Given the description of an element on the screen output the (x, y) to click on. 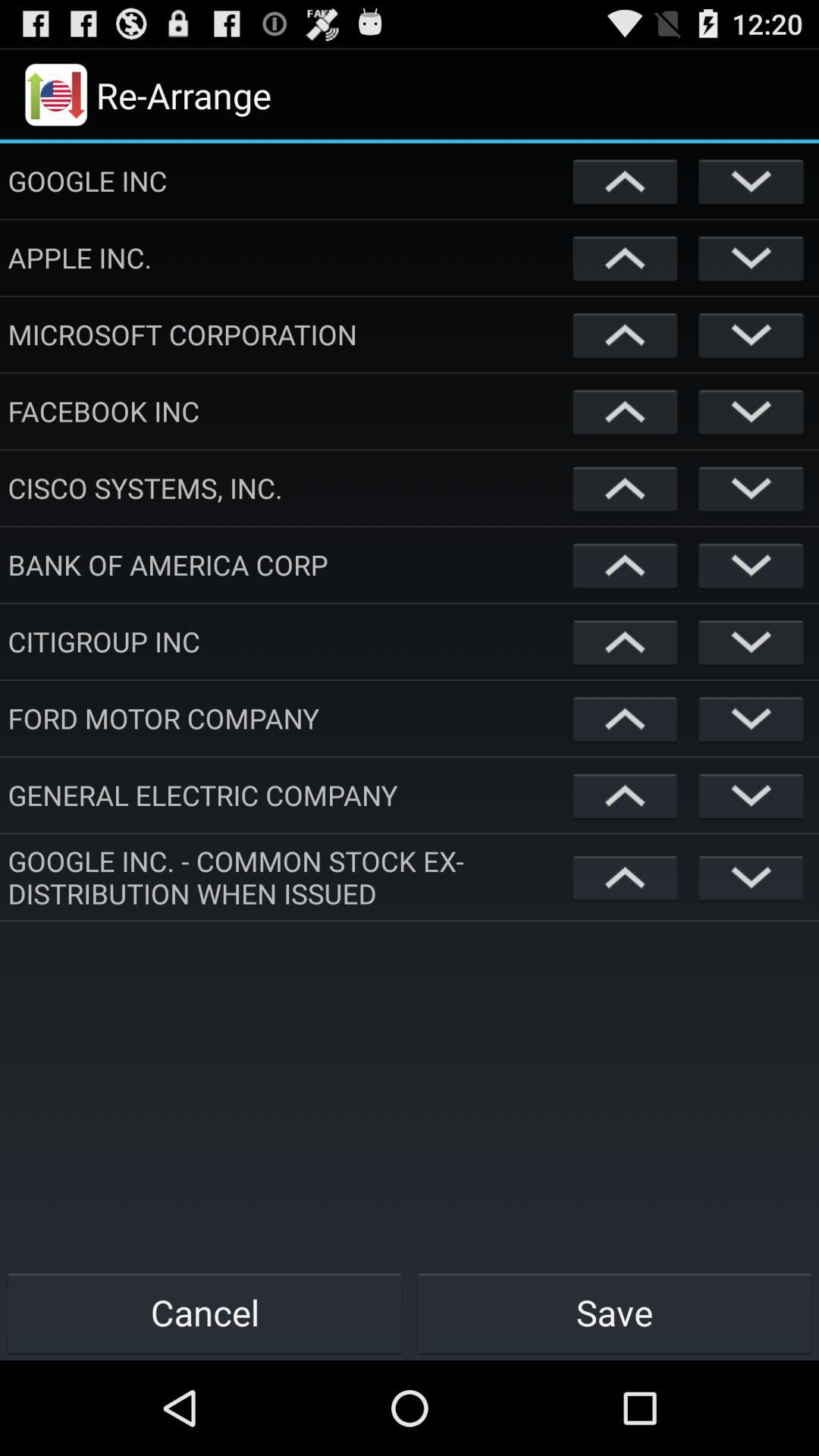
flip until the bank of america item (286, 564)
